Given the description of an element on the screen output the (x, y) to click on. 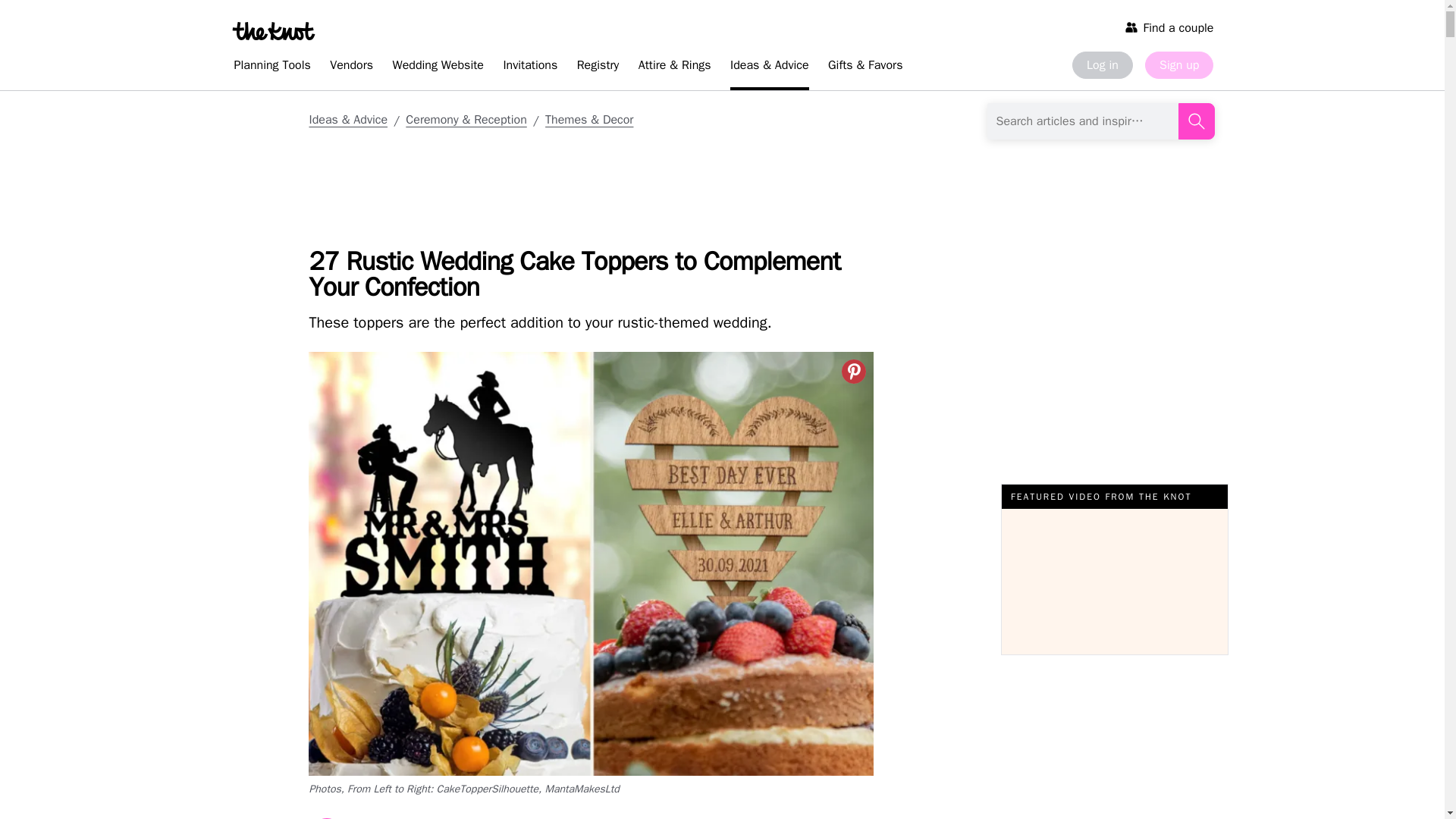
Vendors (350, 67)
Registry (598, 67)
Log in (1101, 64)
Find a couple (1169, 27)
Planning Tools (271, 67)
Invitations (529, 67)
Sign up (1178, 64)
Wedding Website (438, 67)
